Given the description of an element on the screen output the (x, y) to click on. 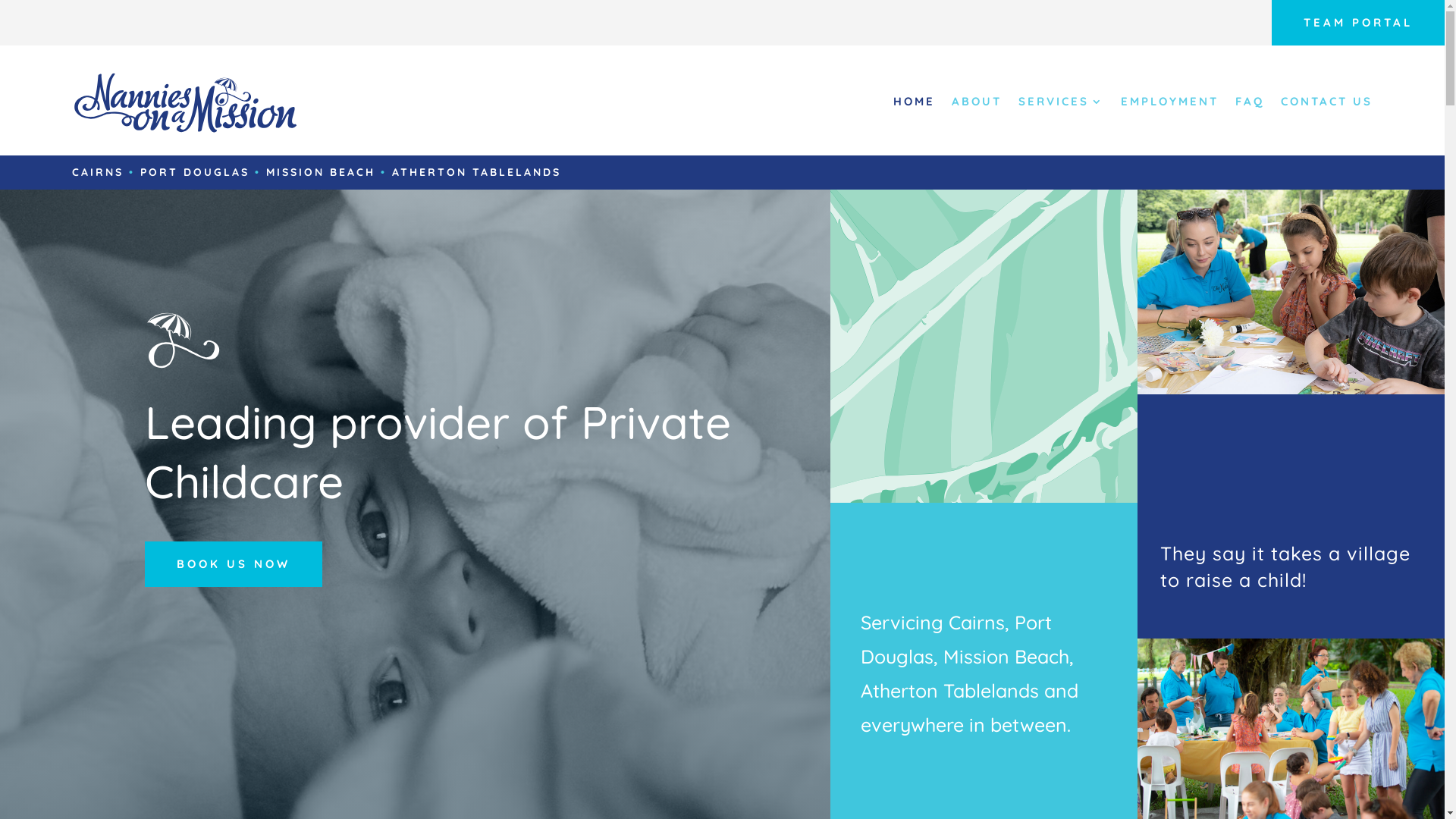
FAQ Element type: text (1249, 100)
HOME Element type: text (914, 100)
TEAM PORTAL Element type: text (1357, 22)
SERVICES Element type: text (1061, 100)
ABOUT Element type: text (976, 100)
EMPLOYMENT Element type: text (1169, 100)
BOOK US NOW Element type: text (232, 563)
CONTACT US Element type: text (1326, 100)
